Given the description of an element on the screen output the (x, y) to click on. 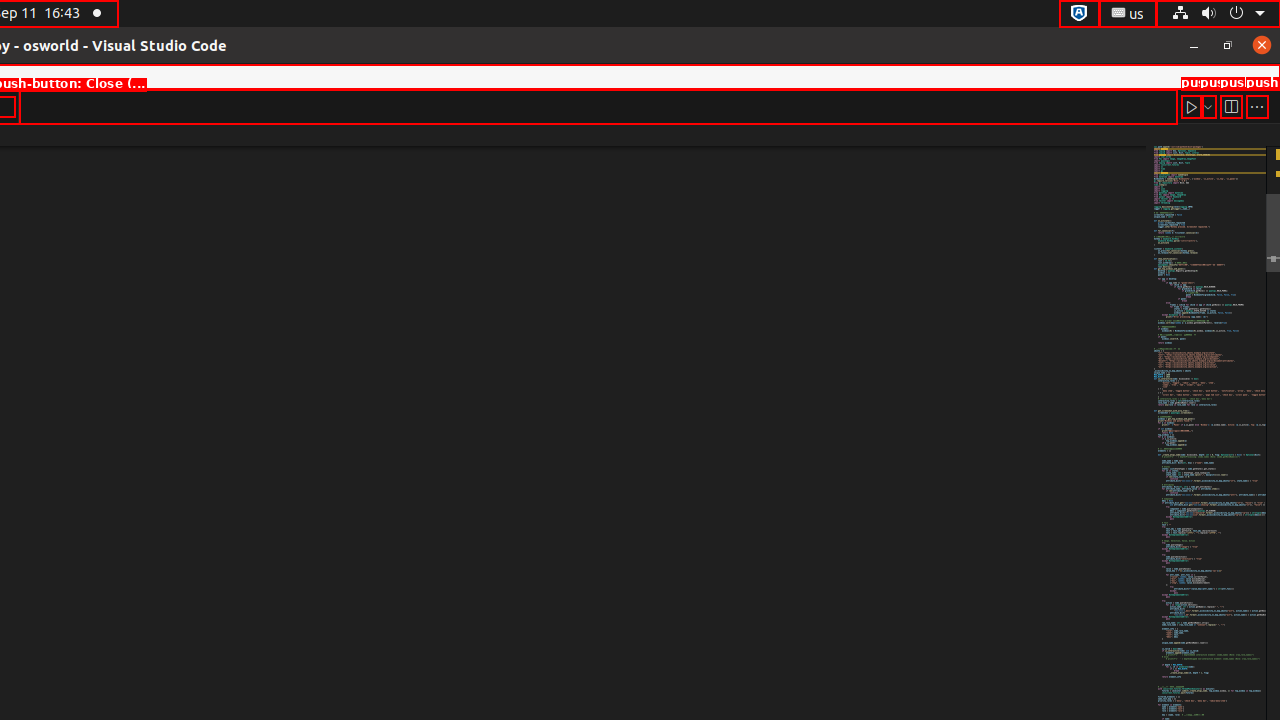
More Actions... Element type: push-button (1257, 106)
Run or Debug... Element type: push-button (1208, 106)
Run Python File Element type: push-button (1192, 106)
:1.21/StatusNotifierItem Element type: menu (1127, 13)
